Given the description of an element on the screen output the (x, y) to click on. 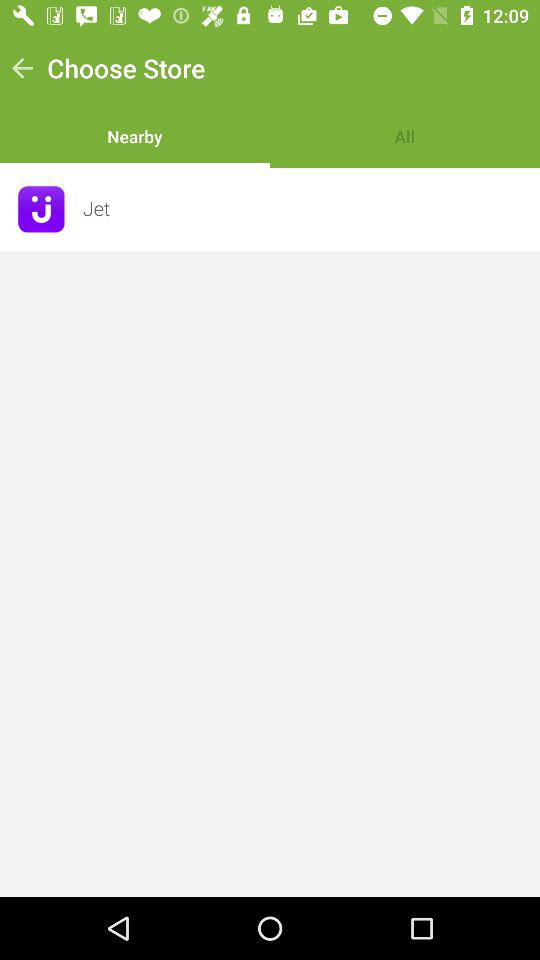
open jet item (305, 208)
